Given the description of an element on the screen output the (x, y) to click on. 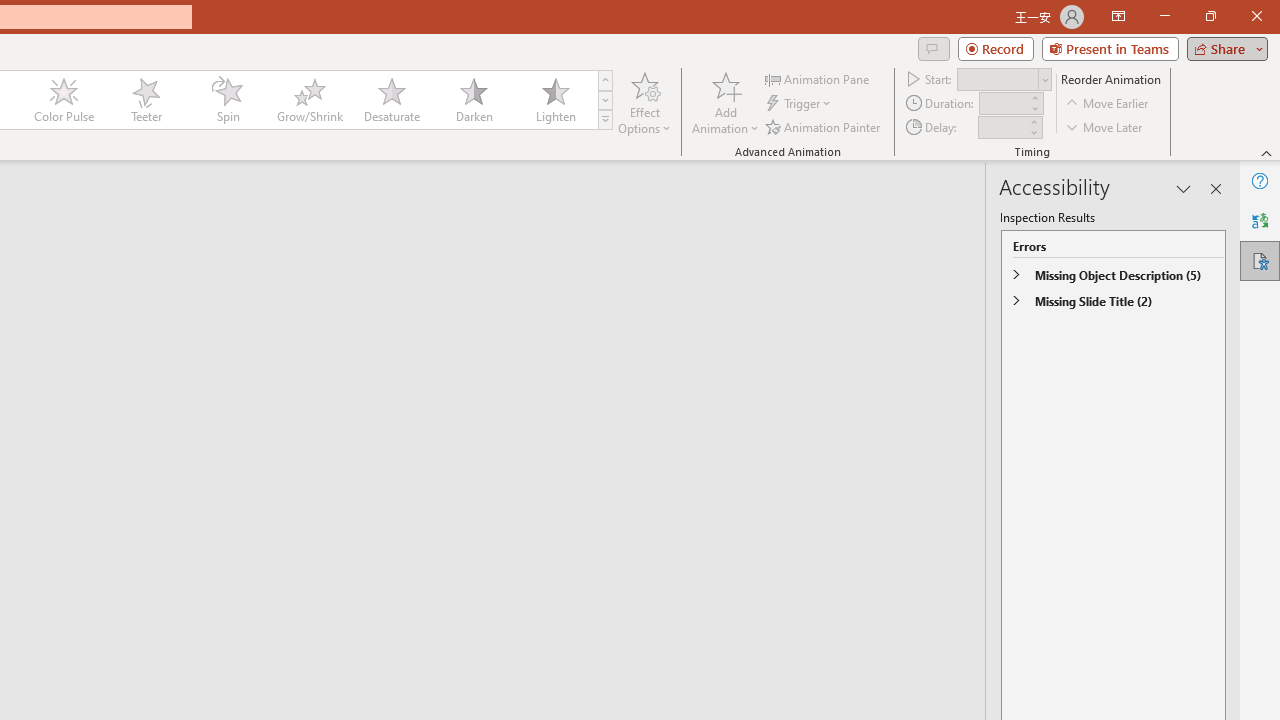
Add Animation (725, 102)
Spin (227, 100)
Move Later (1105, 126)
Darken (473, 100)
Move Earlier (1107, 103)
Grow/Shrink (309, 100)
Animation Painter (824, 126)
Animation Styles (605, 120)
